Given the description of an element on the screen output the (x, y) to click on. 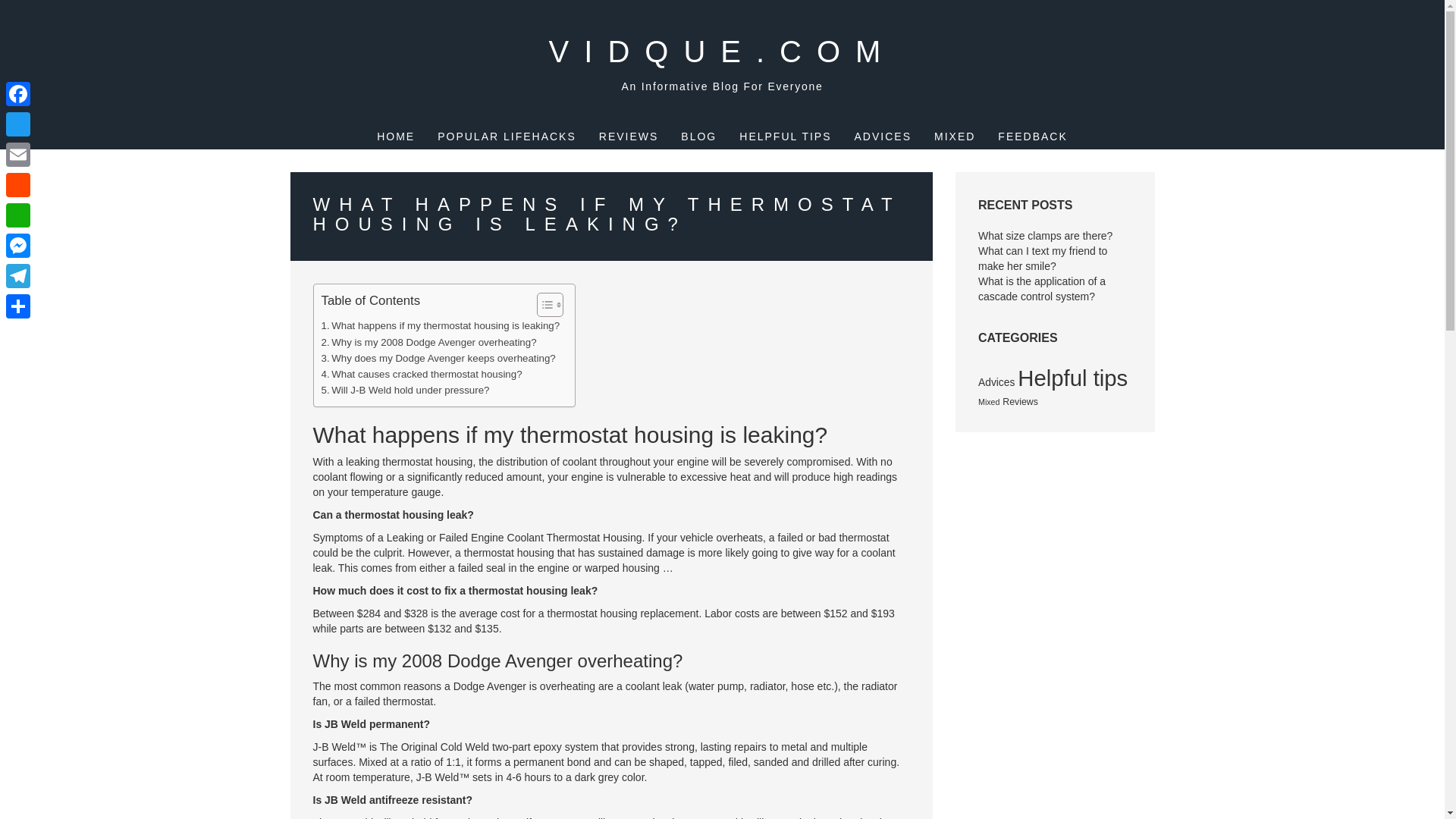
Will J-B Weld hold under pressure? (405, 390)
HOME (395, 136)
Why is my 2008 Dodge Avenger overheating? (429, 342)
FEEDBACK (1032, 136)
Email (17, 154)
Facebook (17, 93)
What happens if my thermostat housing is leaking? (440, 325)
Why is my 2008 Dodge Avenger overheating? (429, 342)
What size clamps are there? (1045, 235)
Advices (996, 381)
Why does my Dodge Avenger keeps overheating? (438, 358)
MIXED (954, 136)
What happens if my thermostat housing is leaking? (440, 325)
What causes cracked thermostat housing? (421, 374)
ADVICES (882, 136)
